Given the description of an element on the screen output the (x, y) to click on. 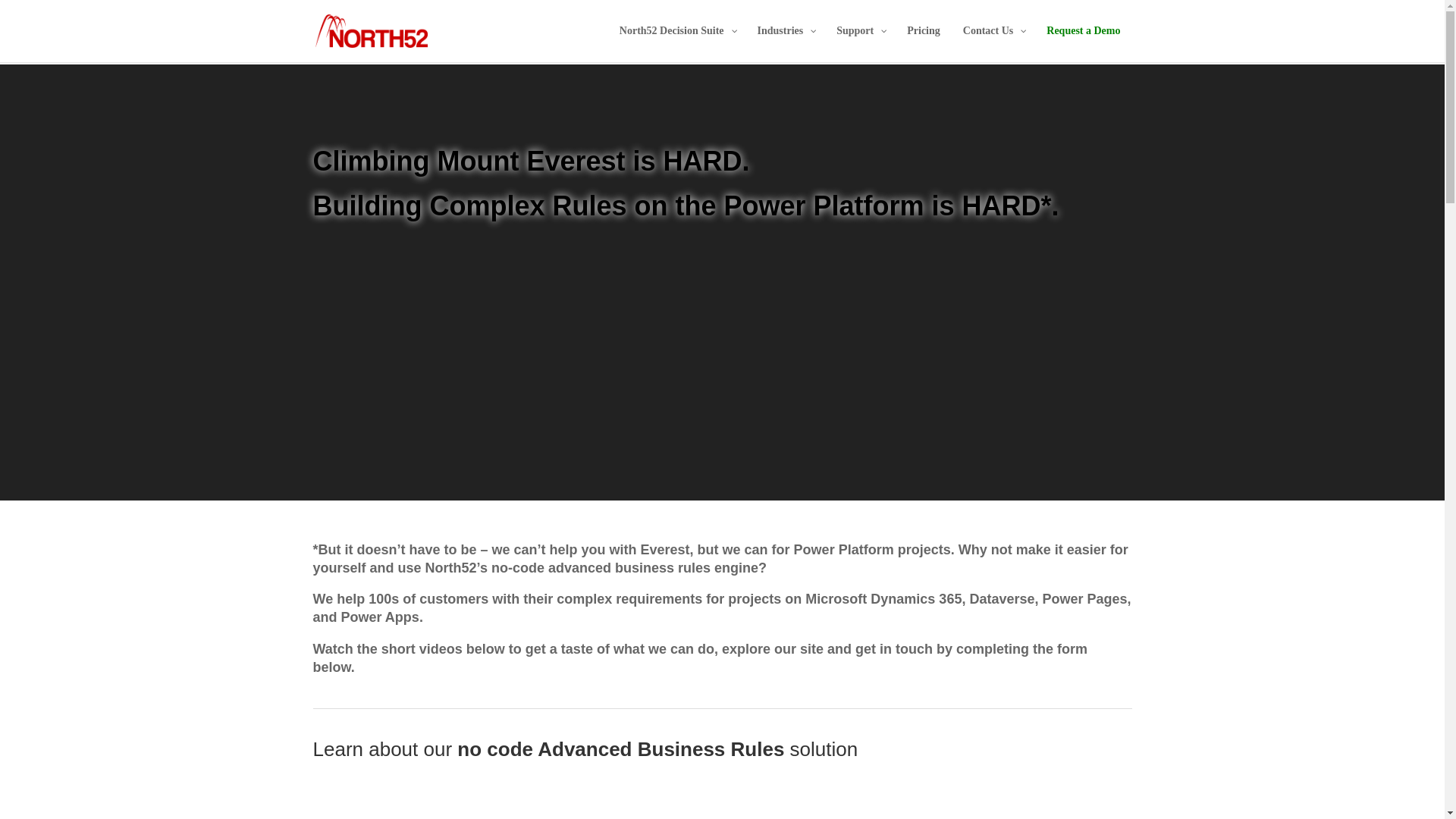
Pricing (923, 43)
North52 Decision Suite (676, 43)
Contact Us (993, 43)
Industries (785, 43)
Support (860, 43)
